Given the description of an element on the screen output the (x, y) to click on. 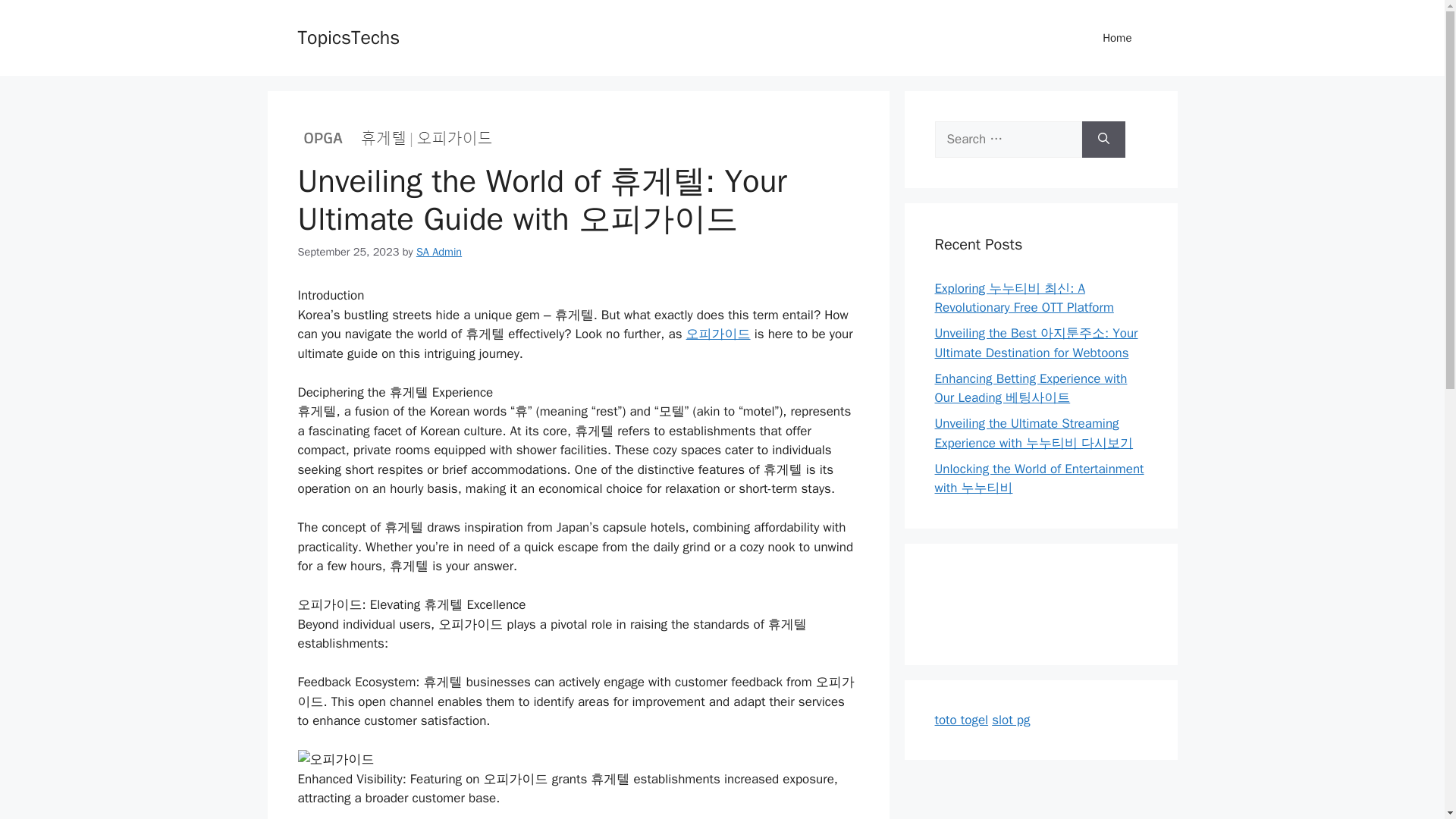
Search for: (1007, 139)
slot pg (1010, 719)
View all posts by SA Admin (438, 250)
Home (1117, 37)
SA Admin (438, 250)
toto togel (961, 719)
TopicsTechs (347, 37)
